Given the description of an element on the screen output the (x, y) to click on. 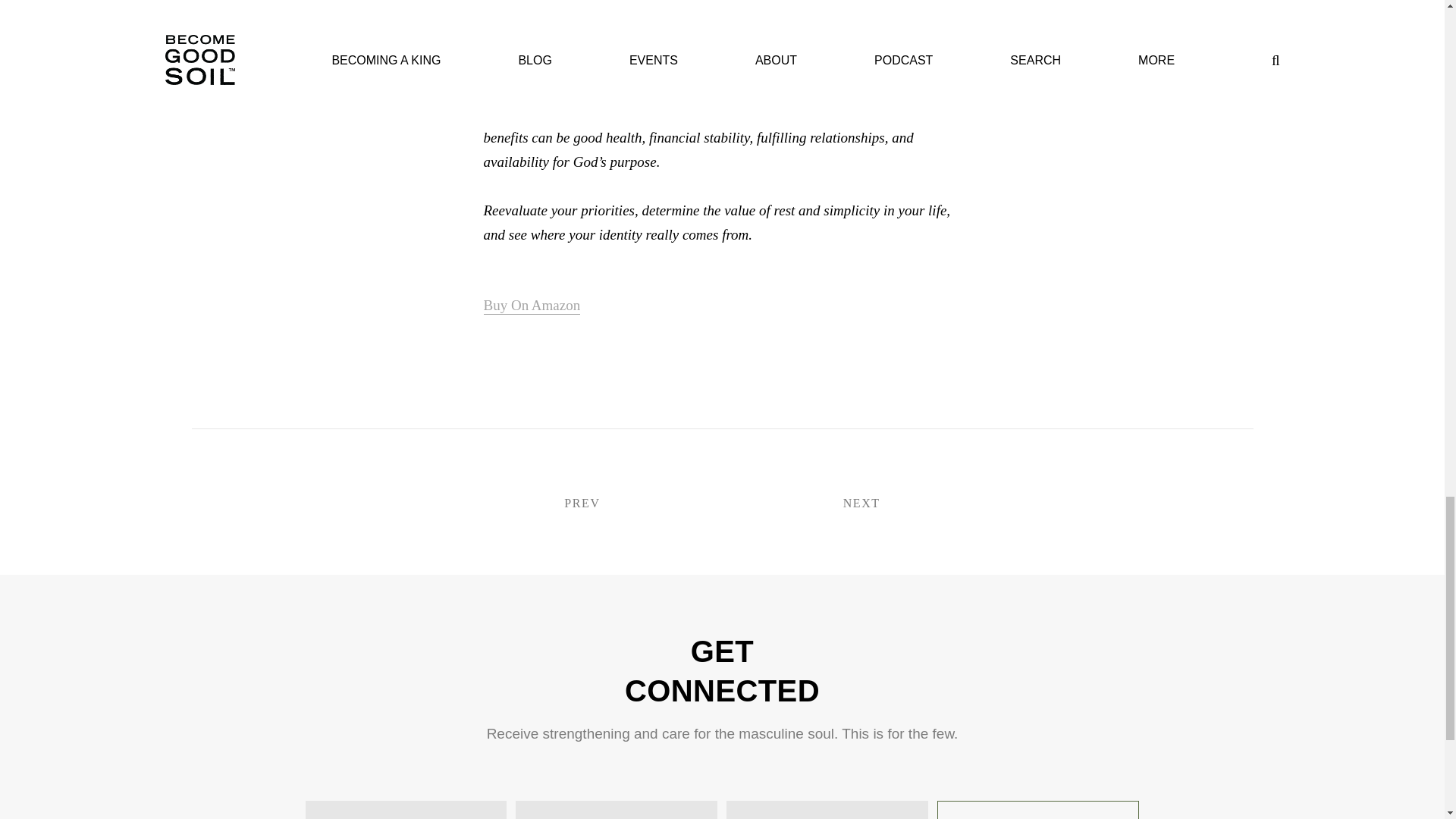
Buy On Amazon (531, 305)
Join (1037, 809)
NEXT (818, 503)
PREV (624, 503)
Join (1037, 809)
